Given the description of an element on the screen output the (x, y) to click on. 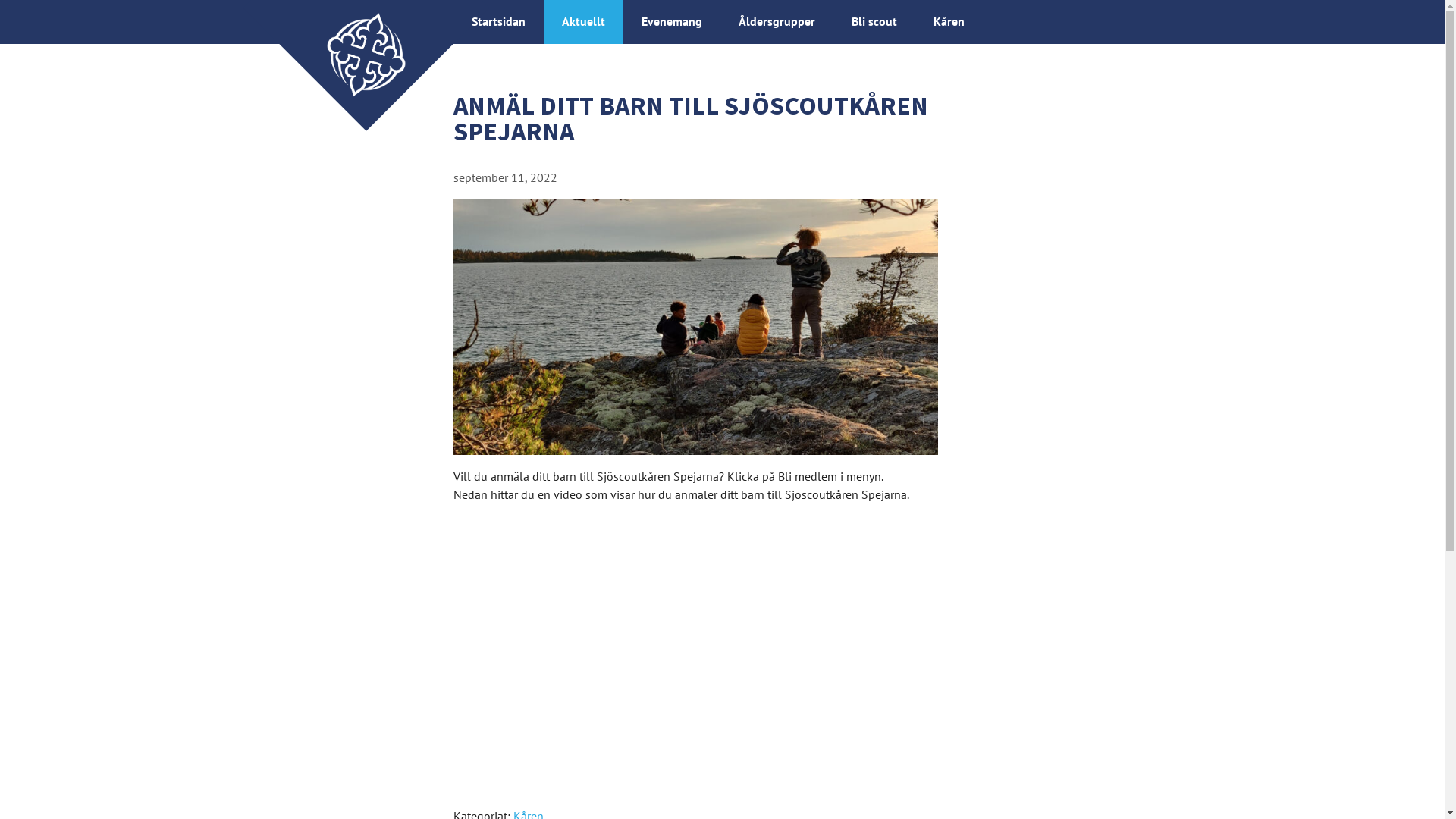
Aktuellt Element type: text (582, 20)
Bli scout Element type: text (873, 20)
Startsidan Element type: text (498, 20)
Evenemang Element type: text (671, 20)
